Given the description of an element on the screen output the (x, y) to click on. 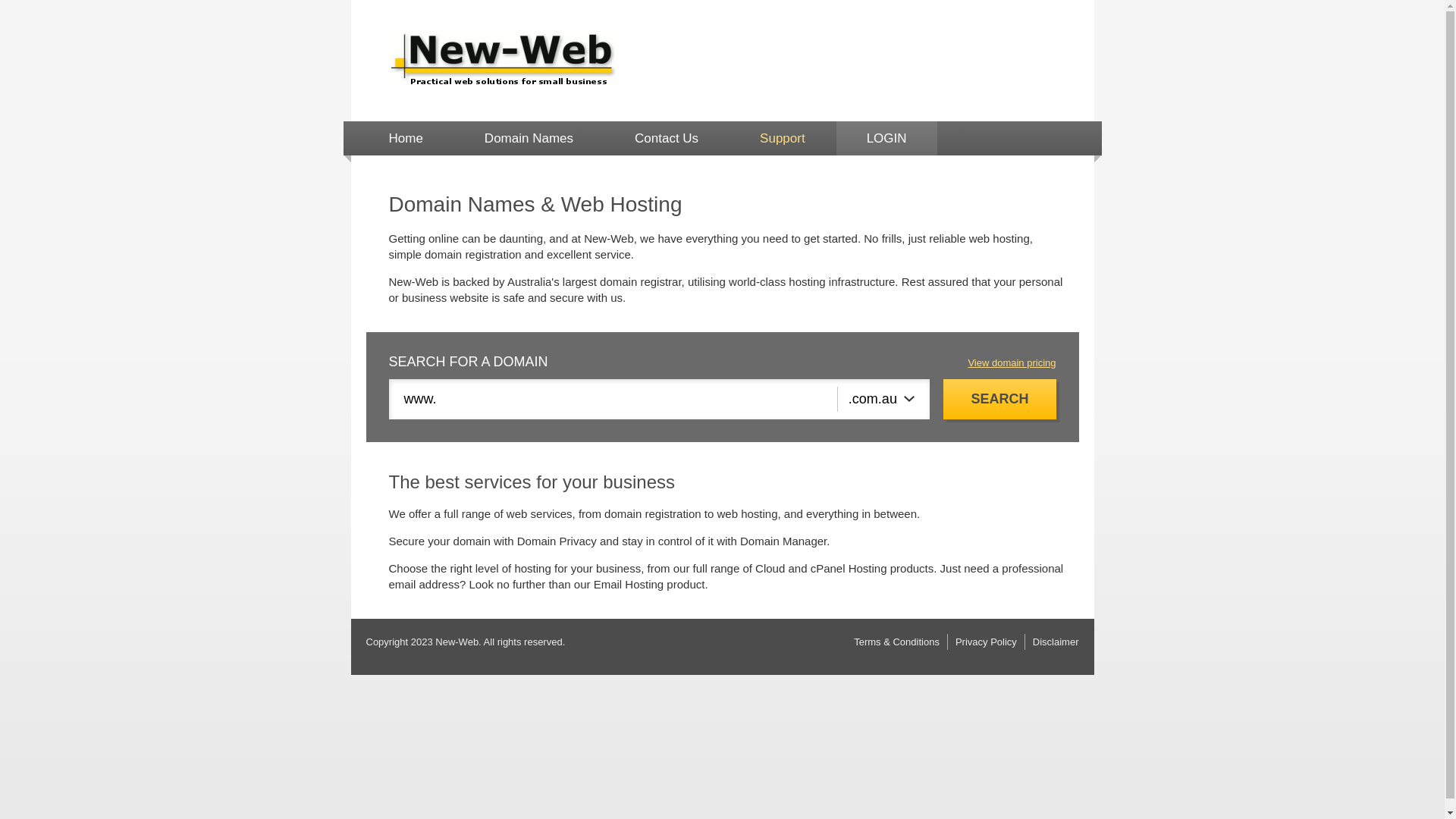
Domain Names Element type: text (528, 138)
Home Element type: text (404, 138)
Contact Us Element type: text (666, 138)
LOGIN Element type: text (886, 138)
Privacy Policy Element type: text (985, 641)
View domain pricing Element type: text (1011, 362)
Disclaimer Element type: text (1055, 641)
Terms & Conditions Element type: text (896, 641)
Support Element type: text (782, 138)
Search Element type: text (999, 399)
